Given the description of an element on the screen output the (x, y) to click on. 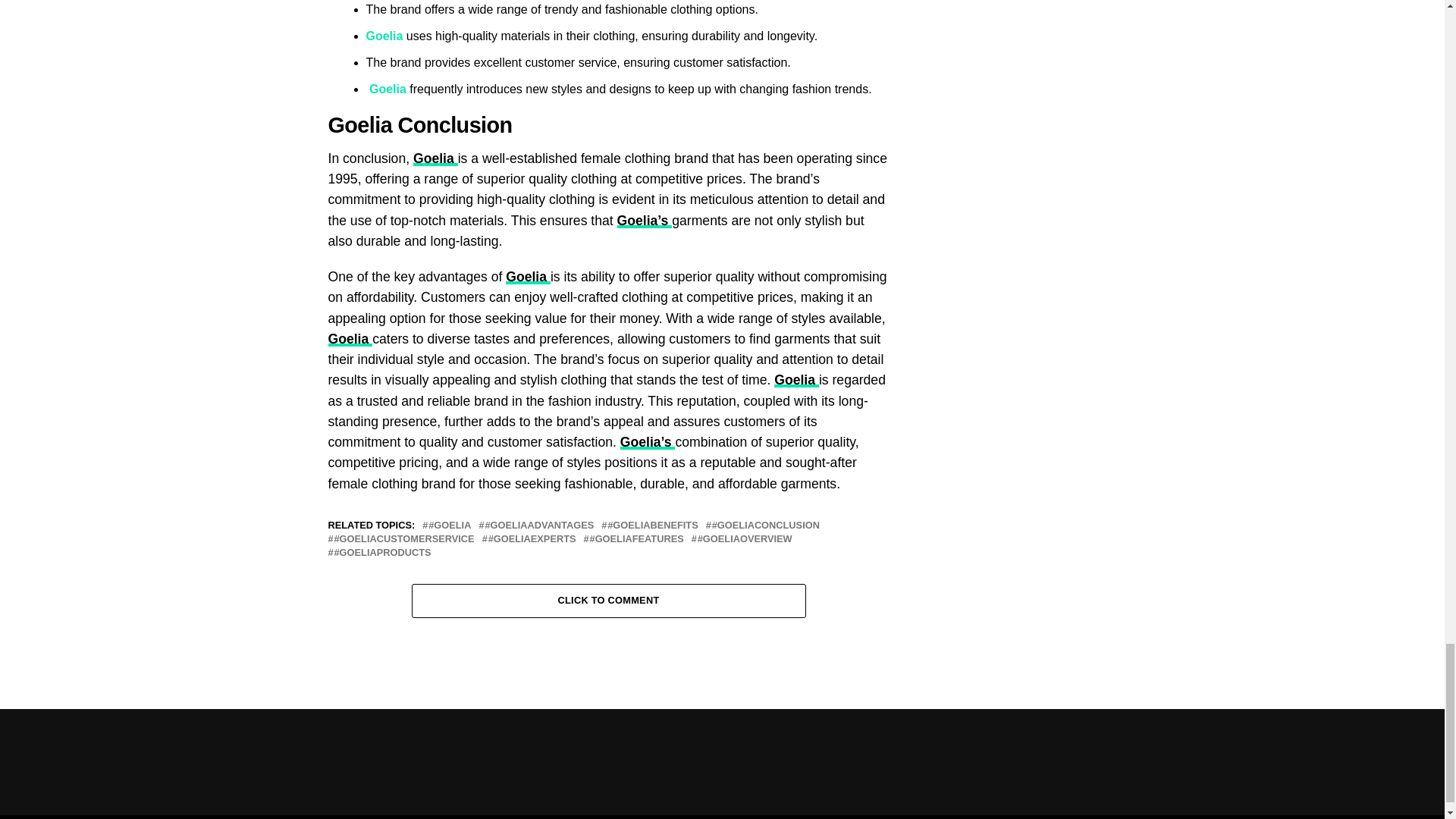
Goelia (362, 125)
Goelia (389, 88)
Goelia (435, 158)
Goelia (385, 35)
